Given the description of an element on the screen output the (x, y) to click on. 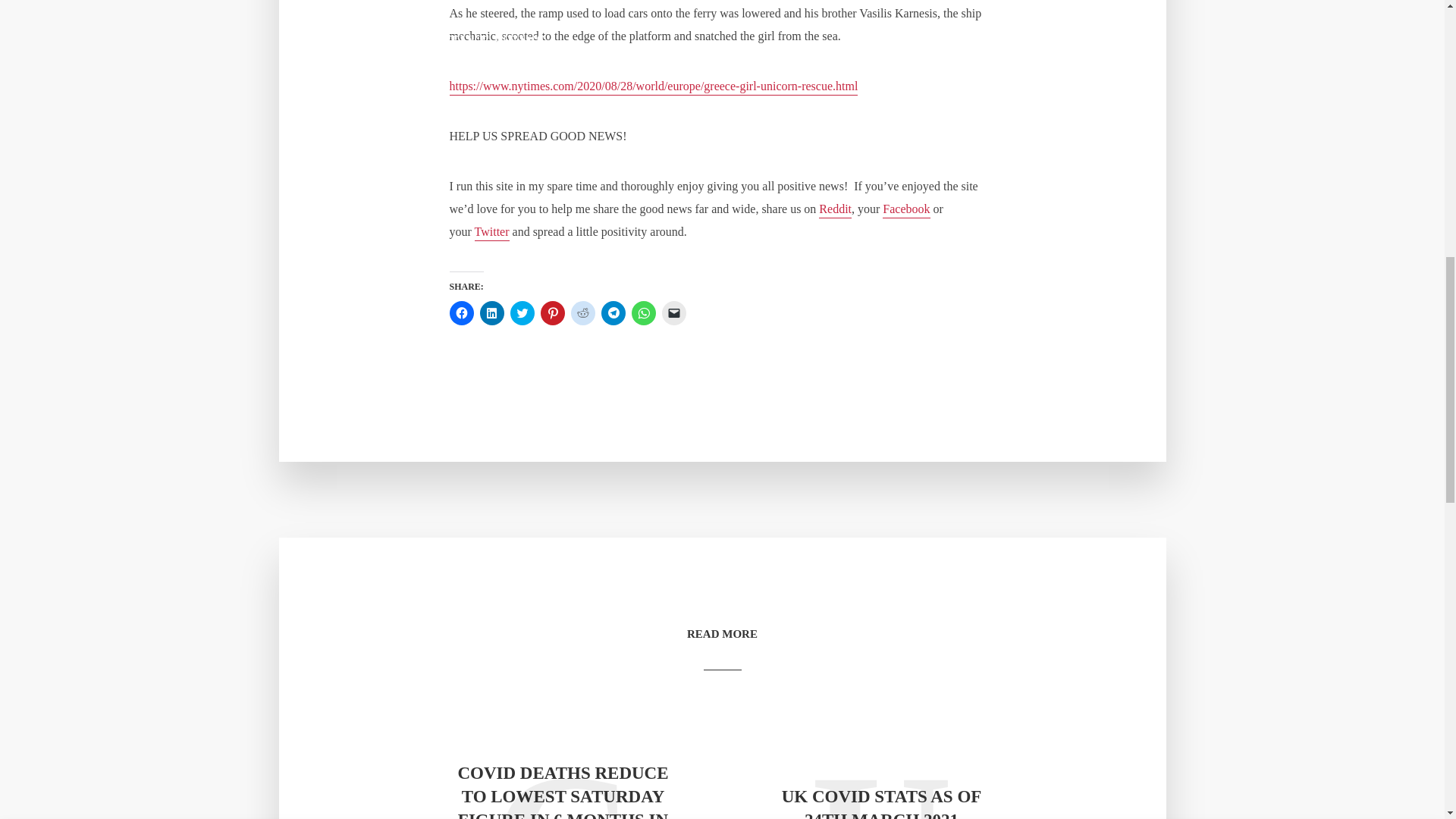
Click to share on Facebook (460, 313)
Click to share on Twitter (521, 313)
Click to email a link to a friend (673, 313)
Click to share on LinkedIn (491, 313)
Click to share on Telegram (611, 313)
Click to share on WhatsApp (642, 313)
Click to share on Reddit (582, 313)
Click to share on Pinterest (552, 313)
